Given the description of an element on the screen output the (x, y) to click on. 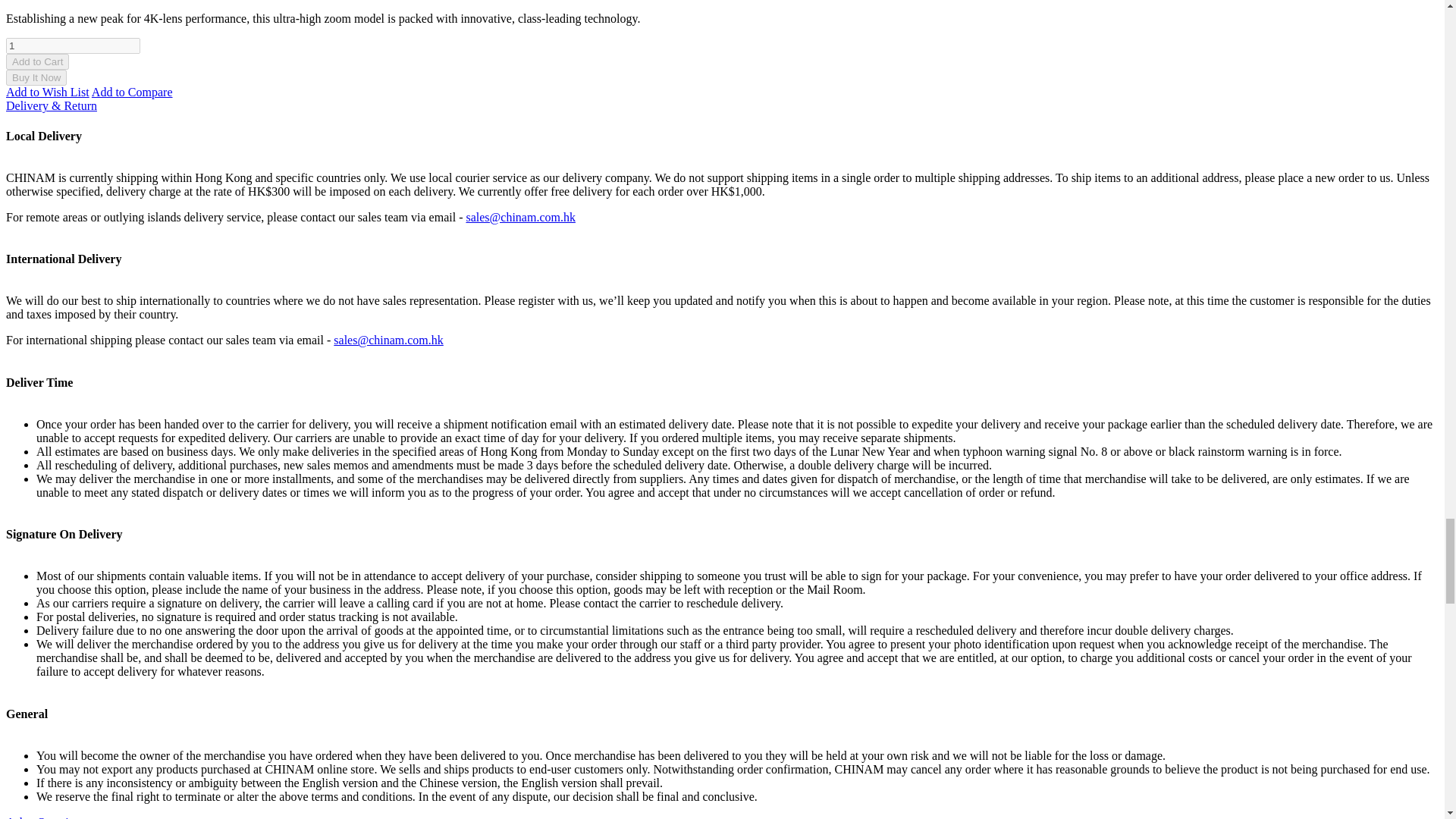
Quantity (72, 45)
Add to Cart (36, 61)
Buy Now (35, 77)
1 (72, 45)
